Given the description of an element on the screen output the (x, y) to click on. 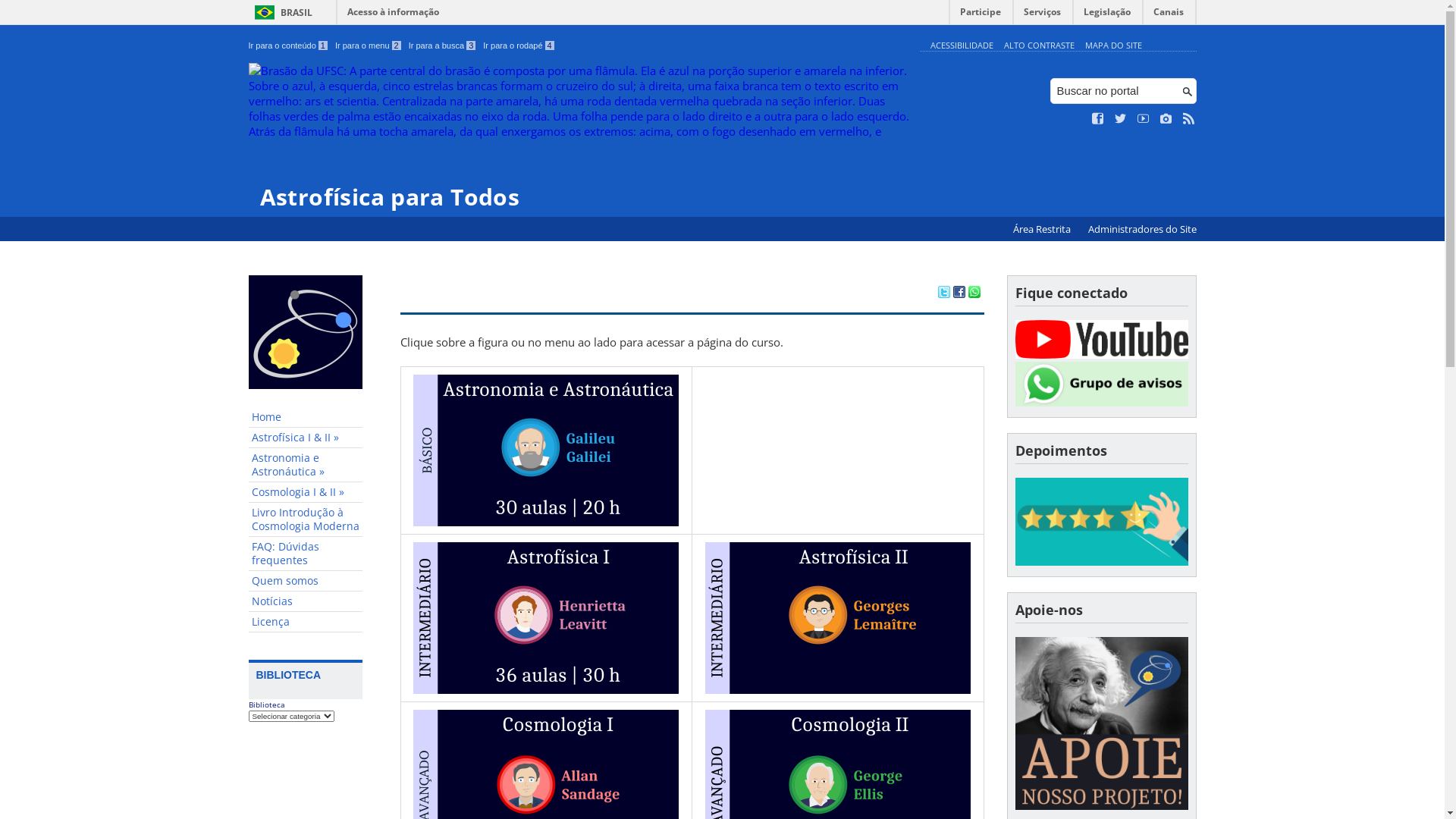
Veja no Instagram Element type: hover (1166, 118)
MAPA DO SITE Element type: text (1112, 44)
ALTO CONTRASTE Element type: text (1039, 44)
BRASIL Element type: text (280, 12)
Administradores do Site Element type: text (1141, 228)
Ir para o menu 2 Element type: text (368, 45)
Ir para a busca 3 Element type: text (442, 45)
Home Element type: text (305, 417)
Compartilhar no Facebook Element type: hover (958, 293)
Curta no Facebook Element type: hover (1098, 118)
Canais Element type: text (1169, 15)
Quem somos Element type: text (305, 581)
Siga no Twitter Element type: hover (1120, 118)
Compartilhar no Twitter Element type: hover (943, 293)
ACESSIBILIDADE Element type: text (960, 44)
Compartilhar no WhatsApp Element type: hover (973, 293)
Participe Element type: text (980, 15)
